Given the description of an element on the screen output the (x, y) to click on. 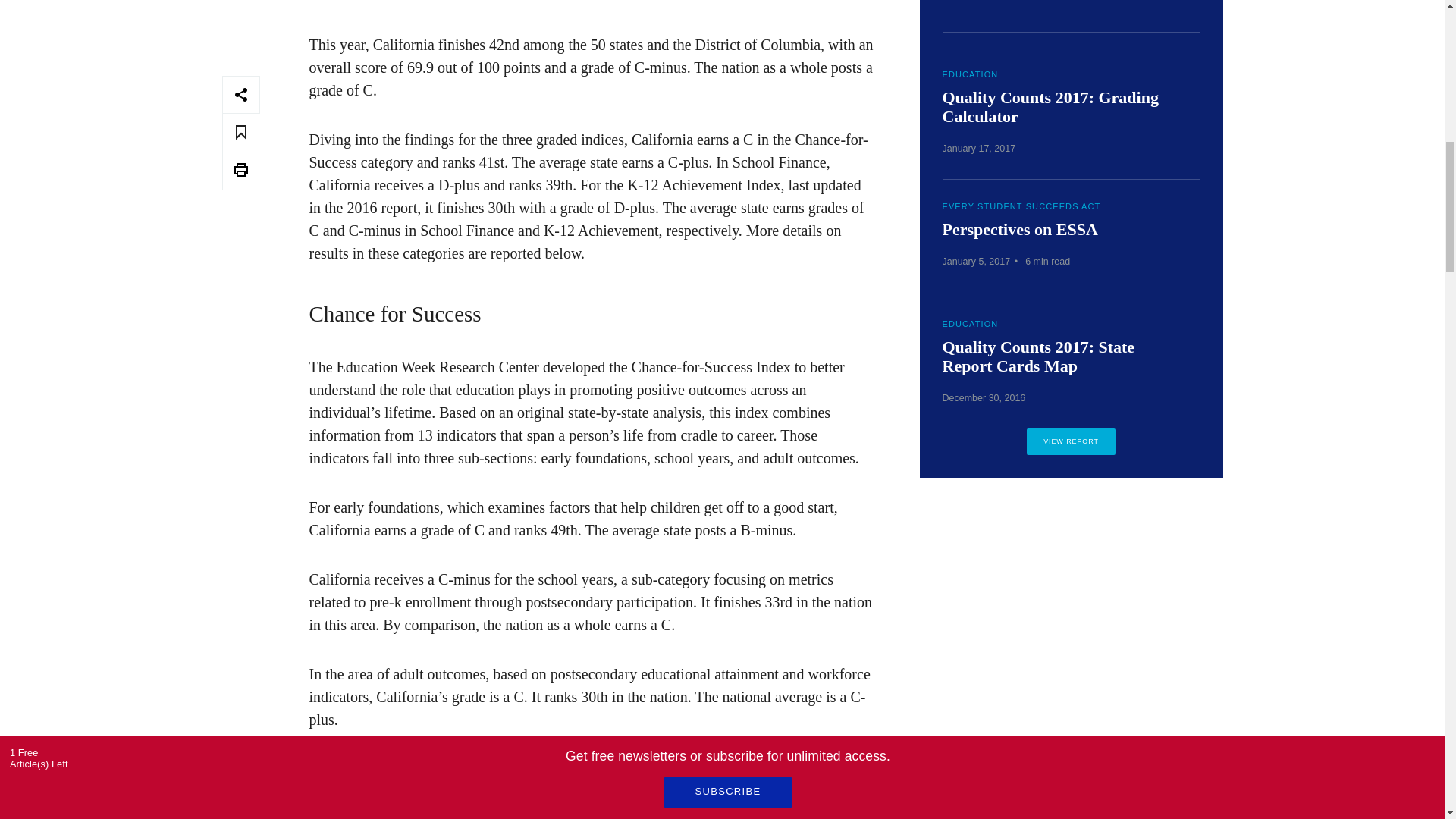
3rd party ad content (1070, 610)
